Given the description of an element on the screen output the (x, y) to click on. 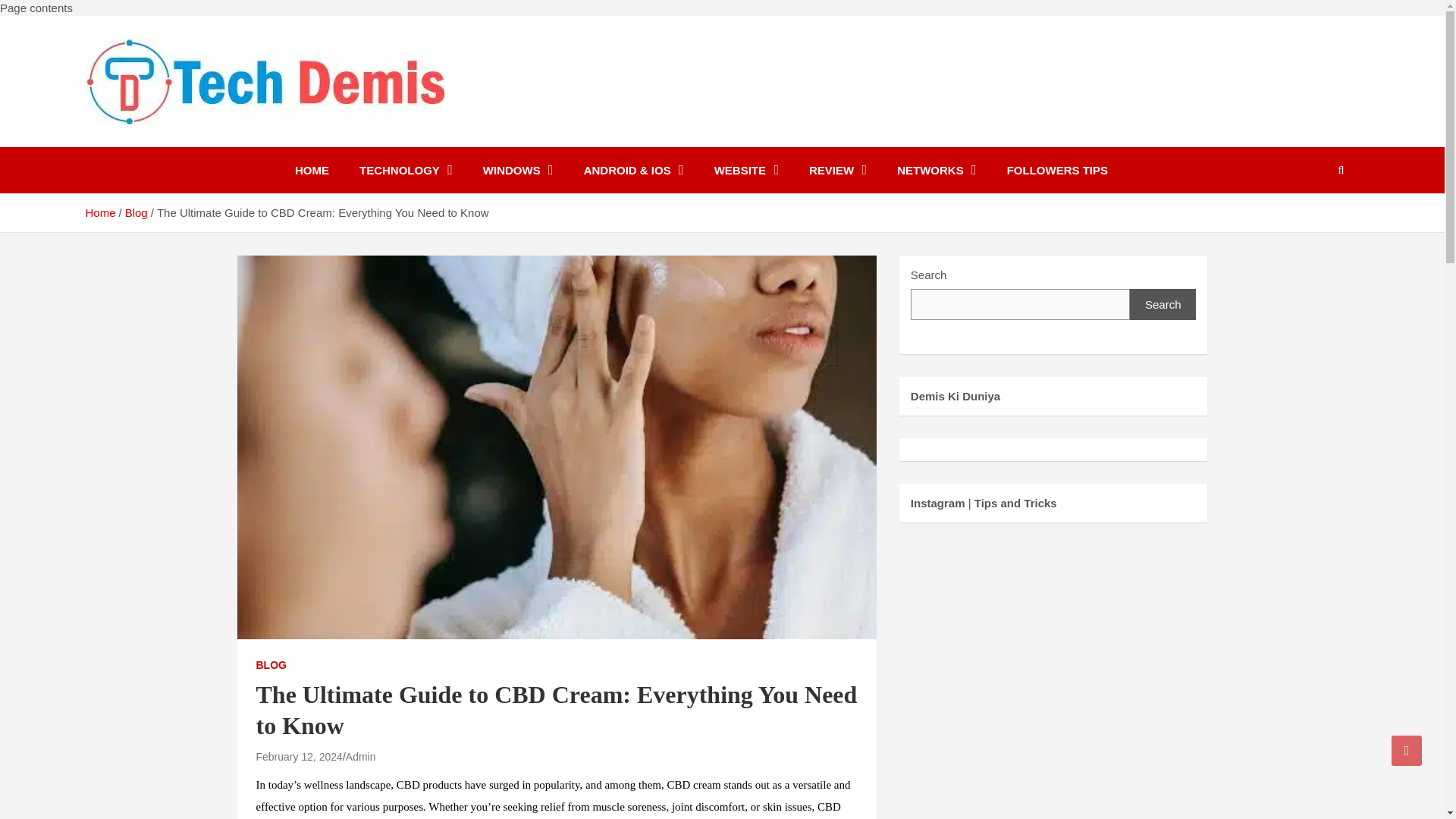
REVIEW (837, 170)
NETWORKS (936, 170)
WEBSITE (745, 170)
WINDOWS (518, 170)
HOME (311, 170)
TECHNOLOGY (405, 170)
The Ultimate Guide to CBD Cream: Everything You Need to Know (299, 756)
Go to Top (1406, 750)
Tech Demis (159, 143)
